Given the description of an element on the screen output the (x, y) to click on. 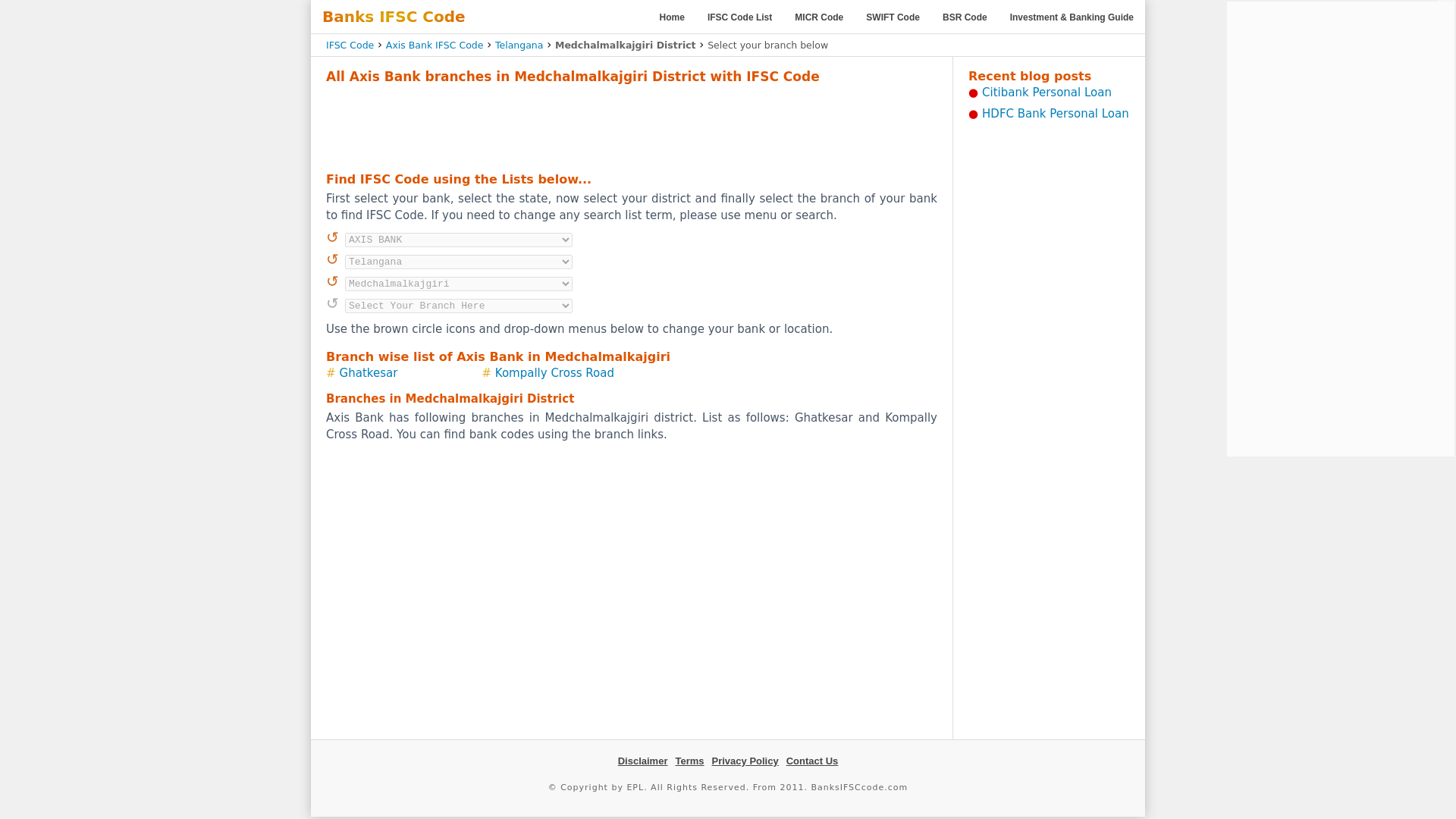
All Banks SWIFT Code List (893, 17)
IFSC Code List (739, 17)
Axis Bank Kompally Cross Road branch IFSC Code (554, 373)
Privacy Policy (744, 760)
BSR Code List (964, 17)
List of all NEFT enabled banks in India (739, 17)
MICR Code (818, 17)
SWIFT Code (893, 17)
Find IFSC code of all bank branches (671, 17)
Disclaimer (642, 760)
BSR Code (964, 17)
IFSC Code (350, 44)
Citibank Personal Loan (1046, 92)
Contact Us (812, 760)
All Banks MICR Code List (818, 17)
